Given the description of an element on the screen output the (x, y) to click on. 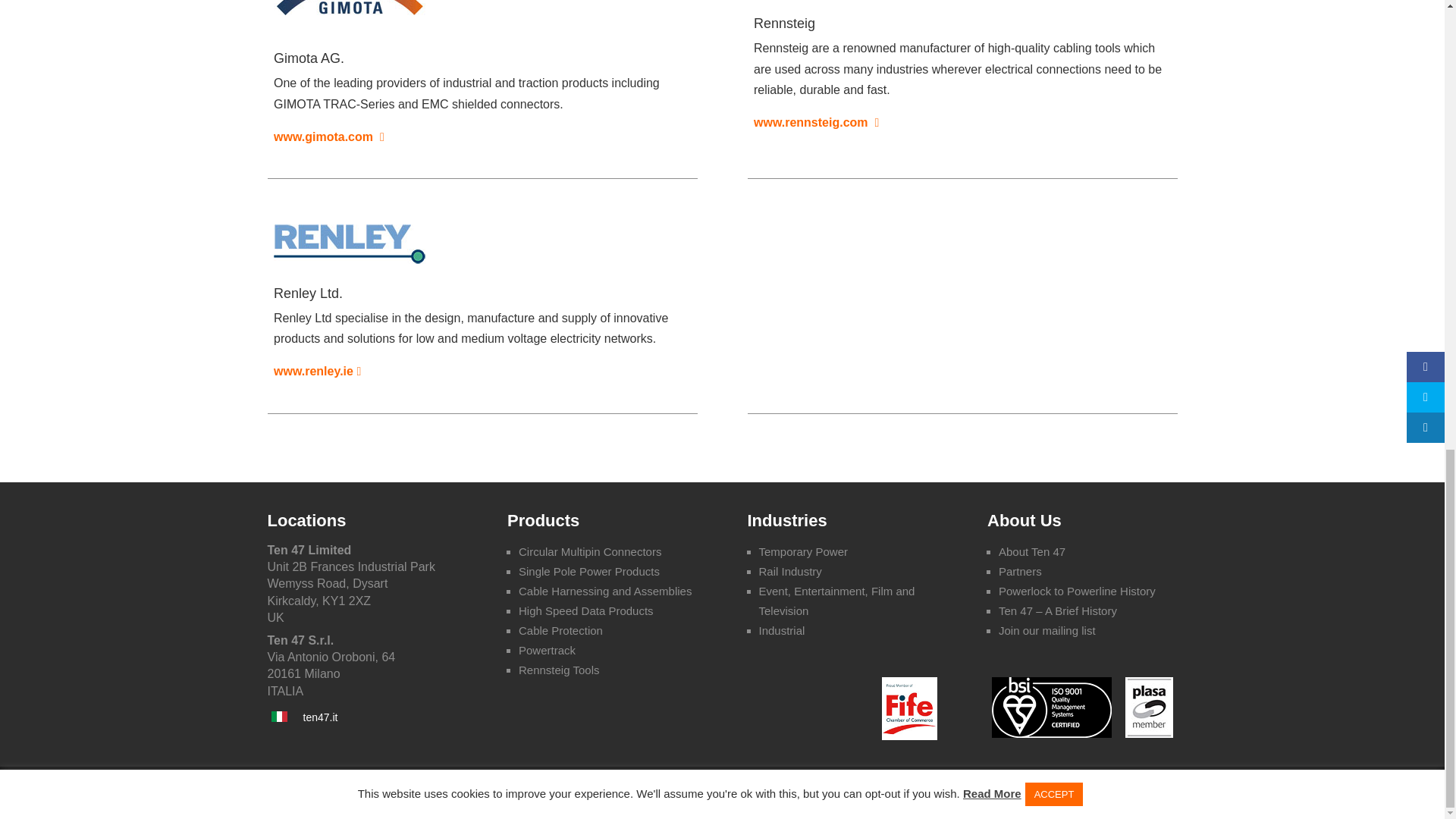
Follow on X (1096, 795)
Follow on Youtube (1163, 795)
Follow on LinkedIn (1129, 795)
Follow on Facebook (1063, 795)
